Given the description of an element on the screen output the (x, y) to click on. 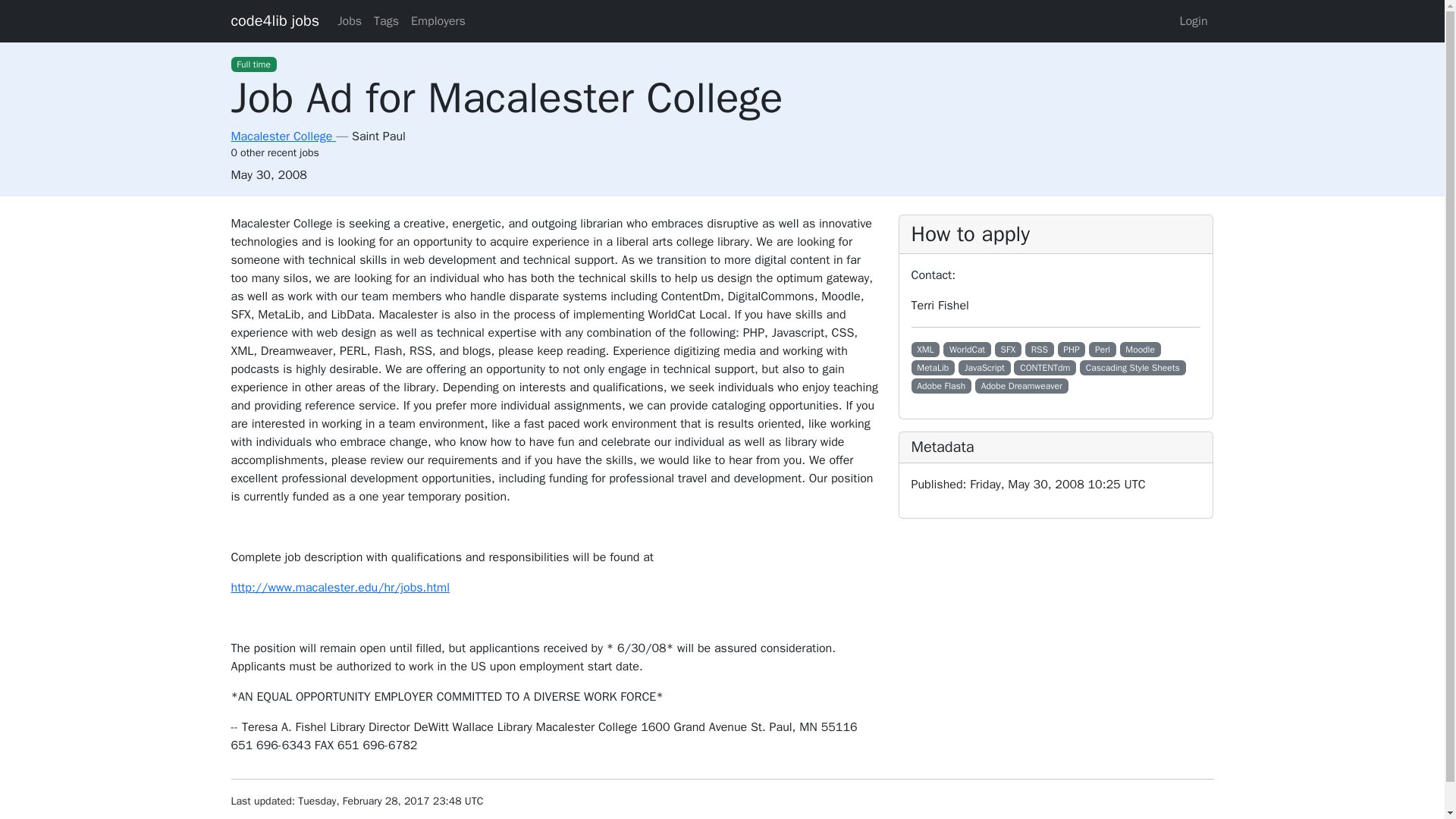
PHP (1072, 349)
Cascading Style Sheets (1133, 367)
Adobe Dreamweaver (1021, 385)
JavaScript (984, 367)
Adobe Flash (941, 385)
XML (925, 349)
MetaLib (933, 367)
RSS (1039, 349)
Perl (1102, 349)
WorldCat (967, 349)
